Given the description of an element on the screen output the (x, y) to click on. 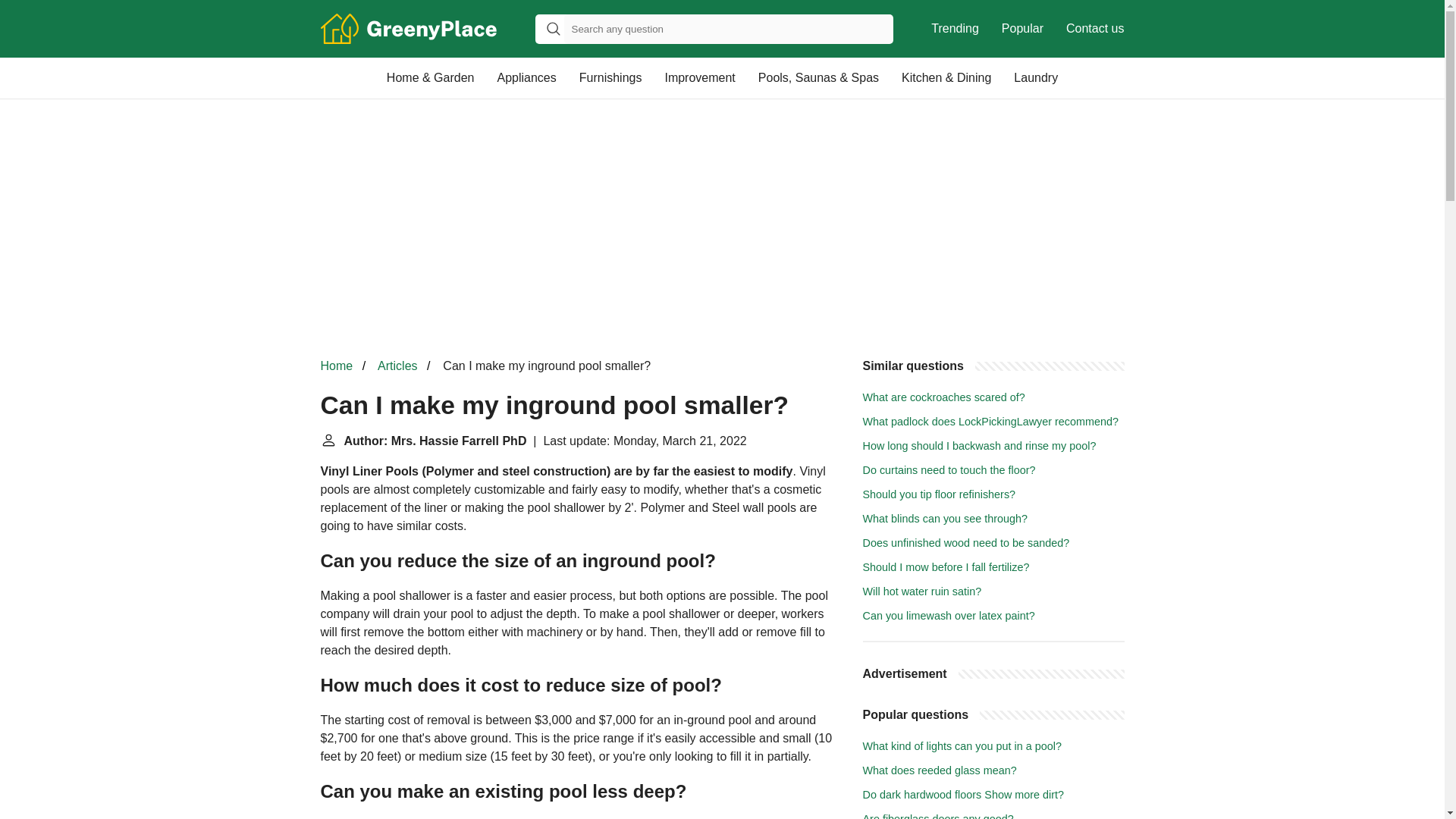
Are fiberglass doors any good? (938, 816)
What does reeded glass mean? (939, 770)
Furnishings (610, 77)
Do curtains need to touch the floor? (949, 469)
Does unfinished wood need to be sanded? (966, 542)
Trending (954, 28)
How long should I backwash and rinse my pool? (979, 445)
Can you limewash over latex paint? (949, 615)
Laundry (1035, 77)
Popular (1022, 28)
Should I mow before I fall fertilize? (946, 567)
Improvement (698, 77)
What blinds can you see through? (945, 518)
What kind of lights can you put in a pool? (962, 746)
Contact us (1094, 28)
